Given the description of an element on the screen output the (x, y) to click on. 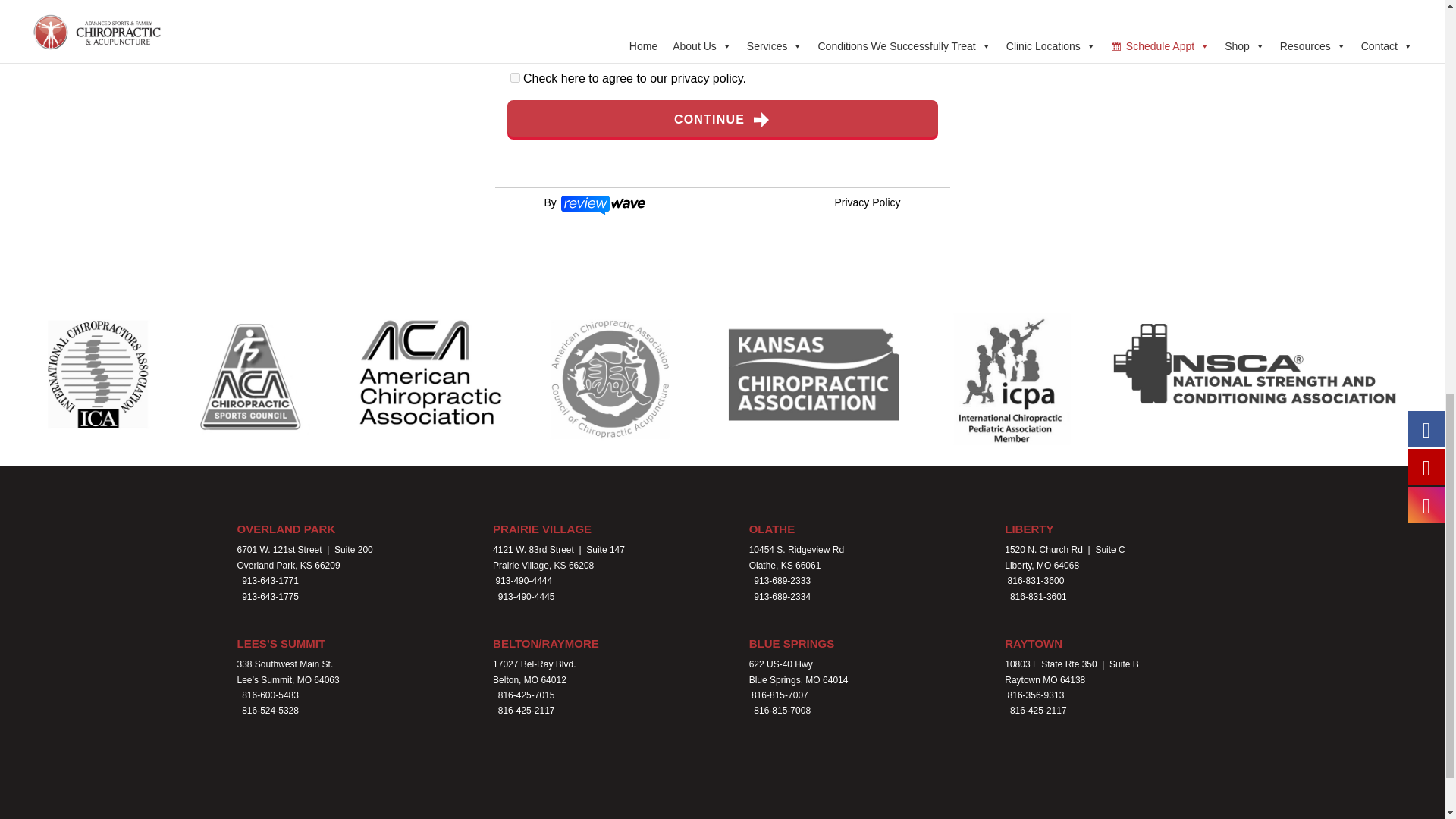
1 (514, 77)
